Given the description of an element on the screen output the (x, y) to click on. 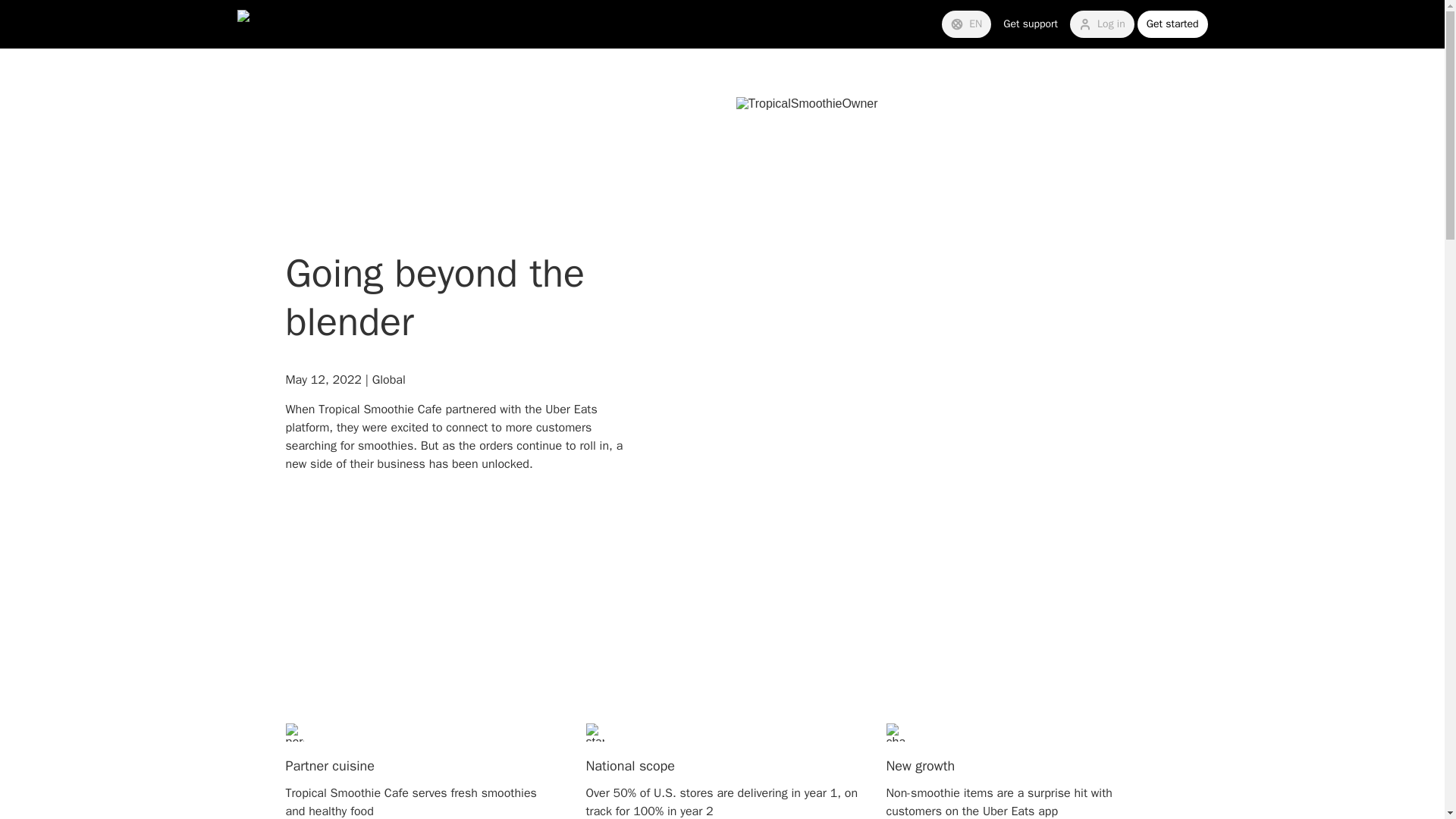
EN (966, 23)
